Given the description of an element on the screen output the (x, y) to click on. 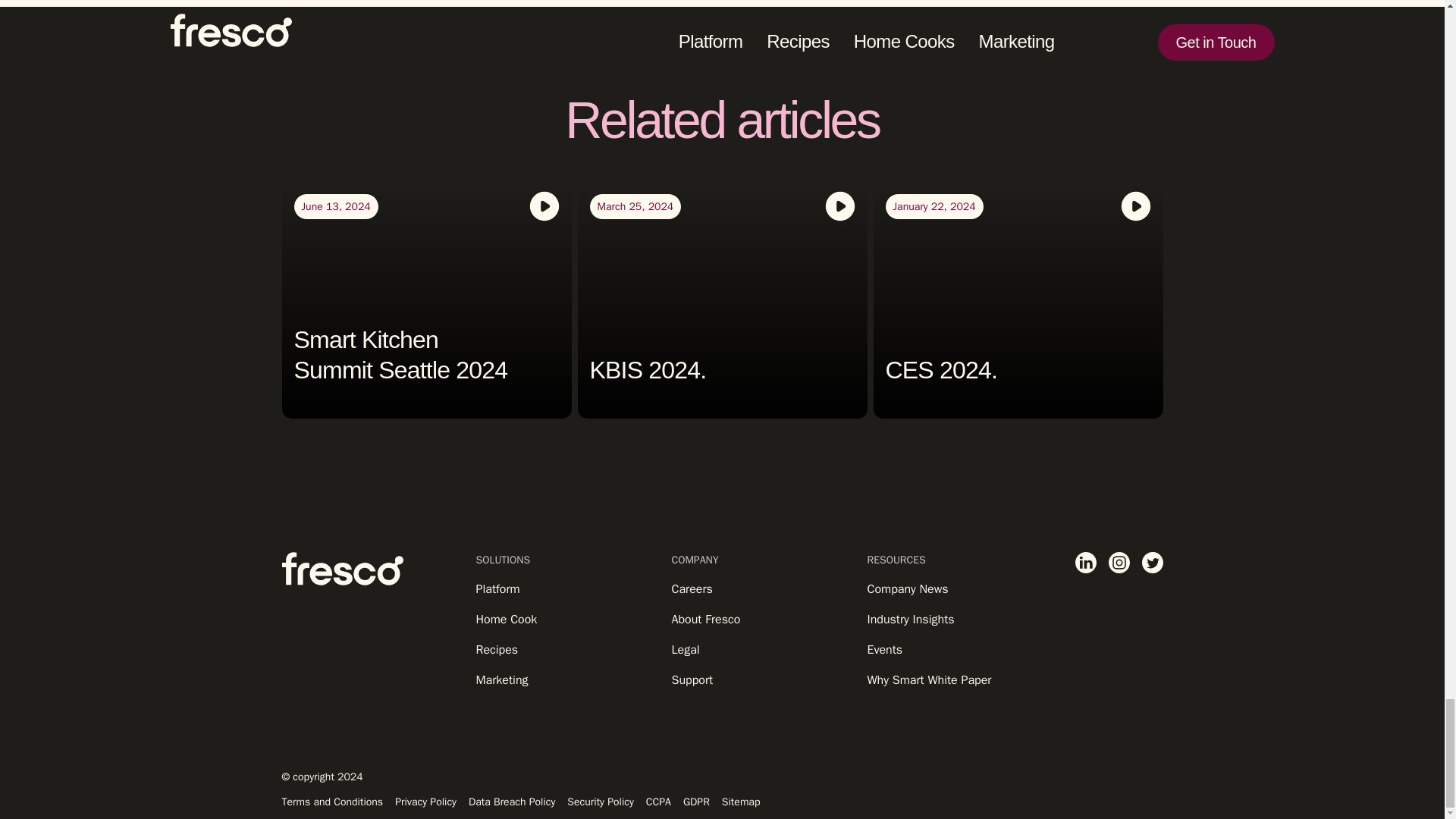
CES 2024. (941, 370)
Company News (959, 588)
Terms and Conditions (333, 801)
Home Cook (567, 619)
Sitemap (741, 801)
Data Breach Policy (511, 801)
Recipes (567, 649)
Privacy Policy (425, 801)
CCPA (658, 801)
Why Smart White Paper (959, 679)
